Given the description of an element on the screen output the (x, y) to click on. 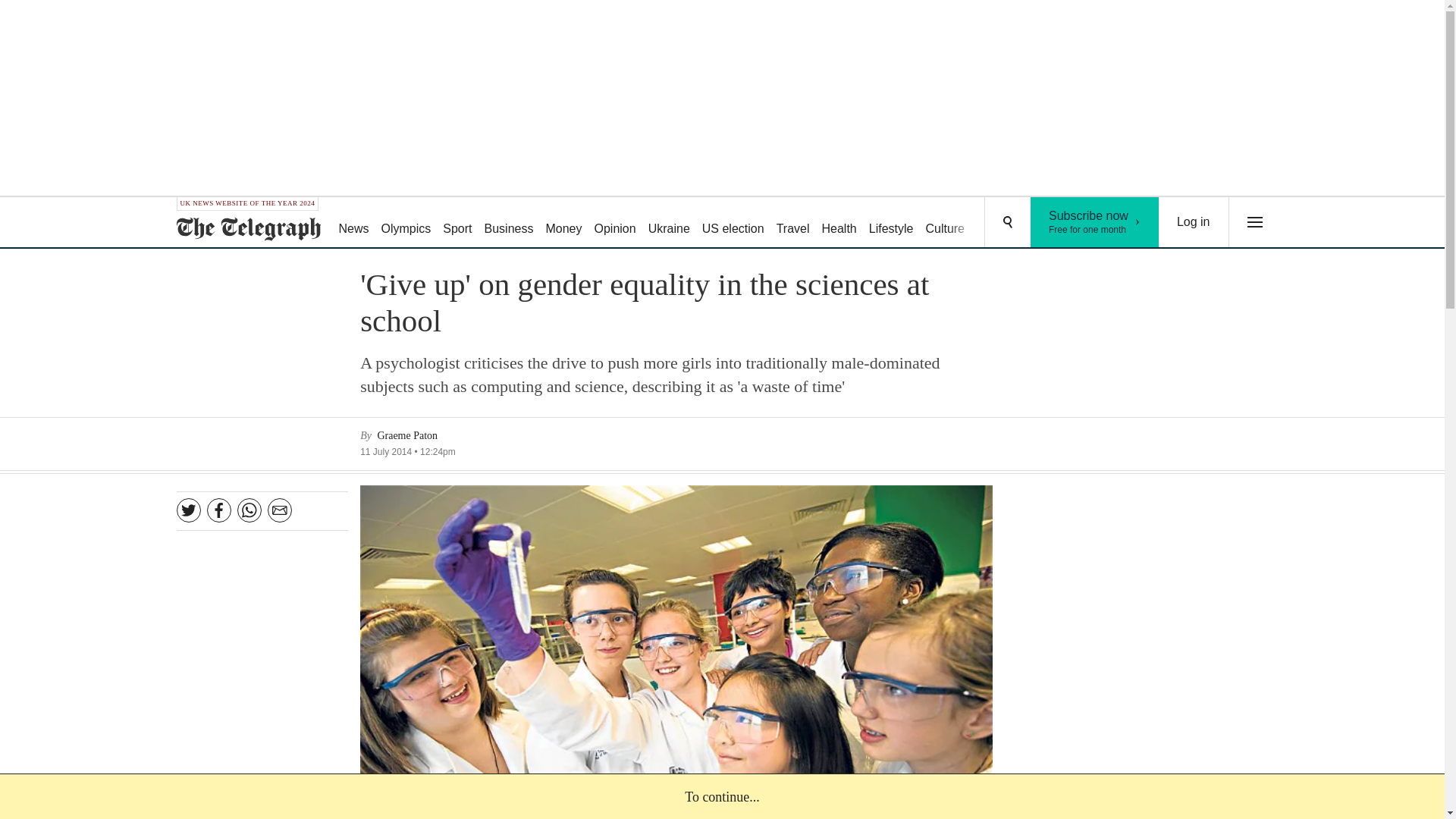
Travel (792, 223)
Culture (944, 223)
Ukraine (668, 223)
Business (509, 223)
Puzzles (998, 223)
US election (732, 223)
Podcasts (1056, 223)
Opinion (615, 223)
Lifestyle (891, 223)
Health (1094, 222)
Log in (838, 223)
Olympics (1193, 222)
Money (406, 223)
